Given the description of an element on the screen output the (x, y) to click on. 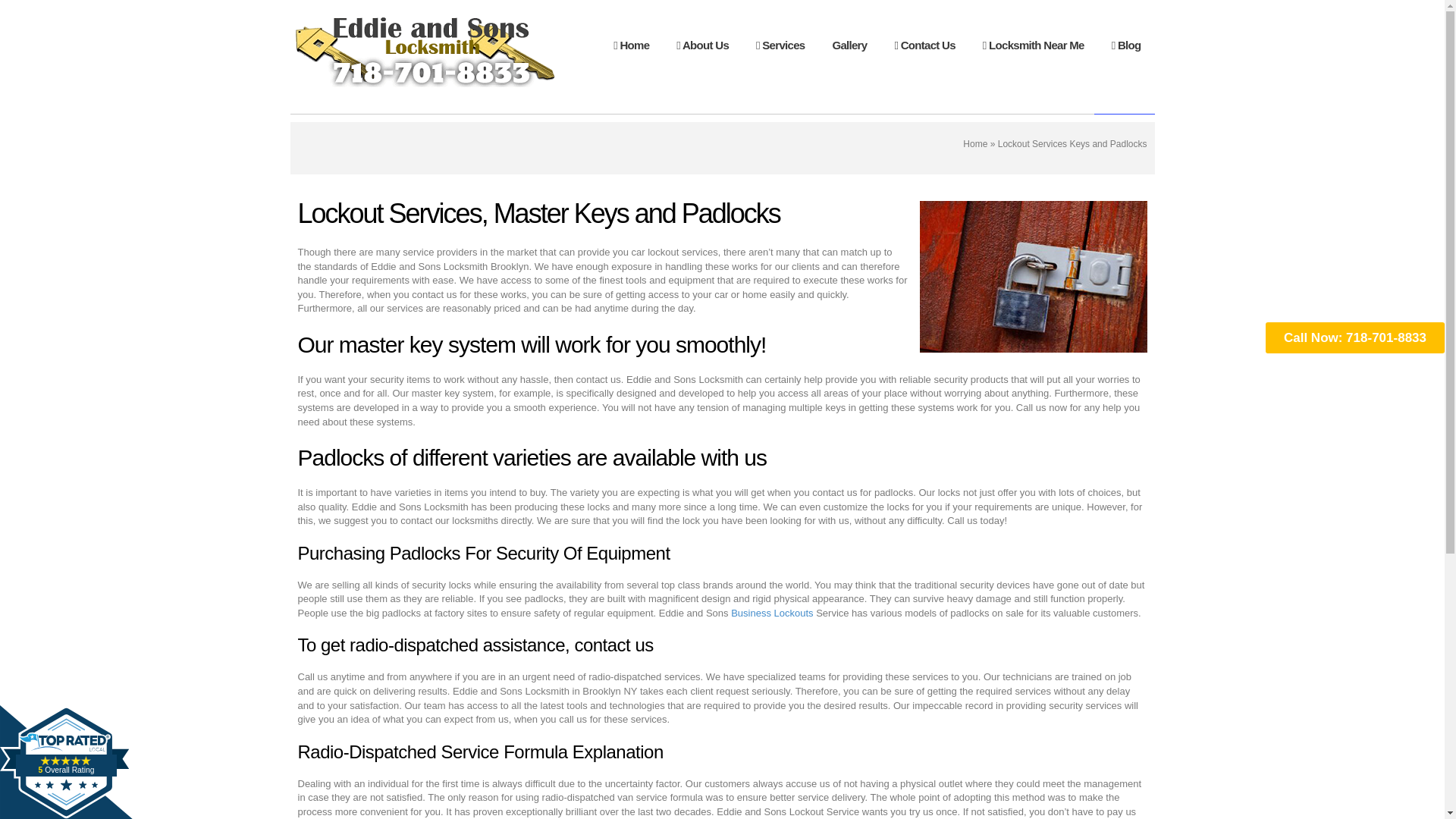
Business Lockouts (771, 613)
Locksmith Near Me (1033, 45)
Home (66, 762)
Contact Us (974, 143)
